Given the description of an element on the screen output the (x, y) to click on. 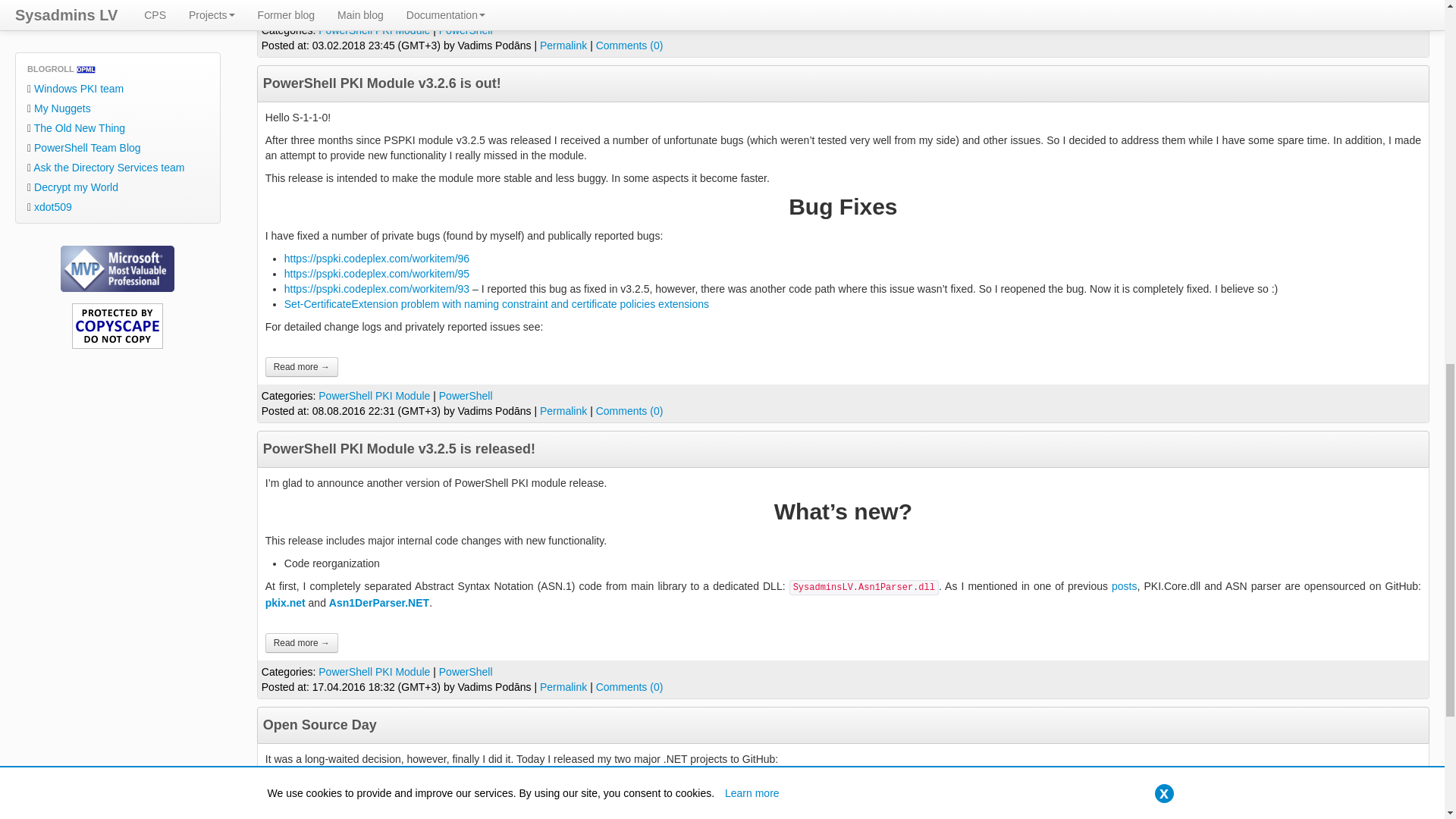
Microsoft Most Valuable Professional: Windows PowerShell (117, 268)
Subscribe to RSS (117, 8)
Windows PKI team (117, 88)
